Given the description of an element on the screen output the (x, y) to click on. 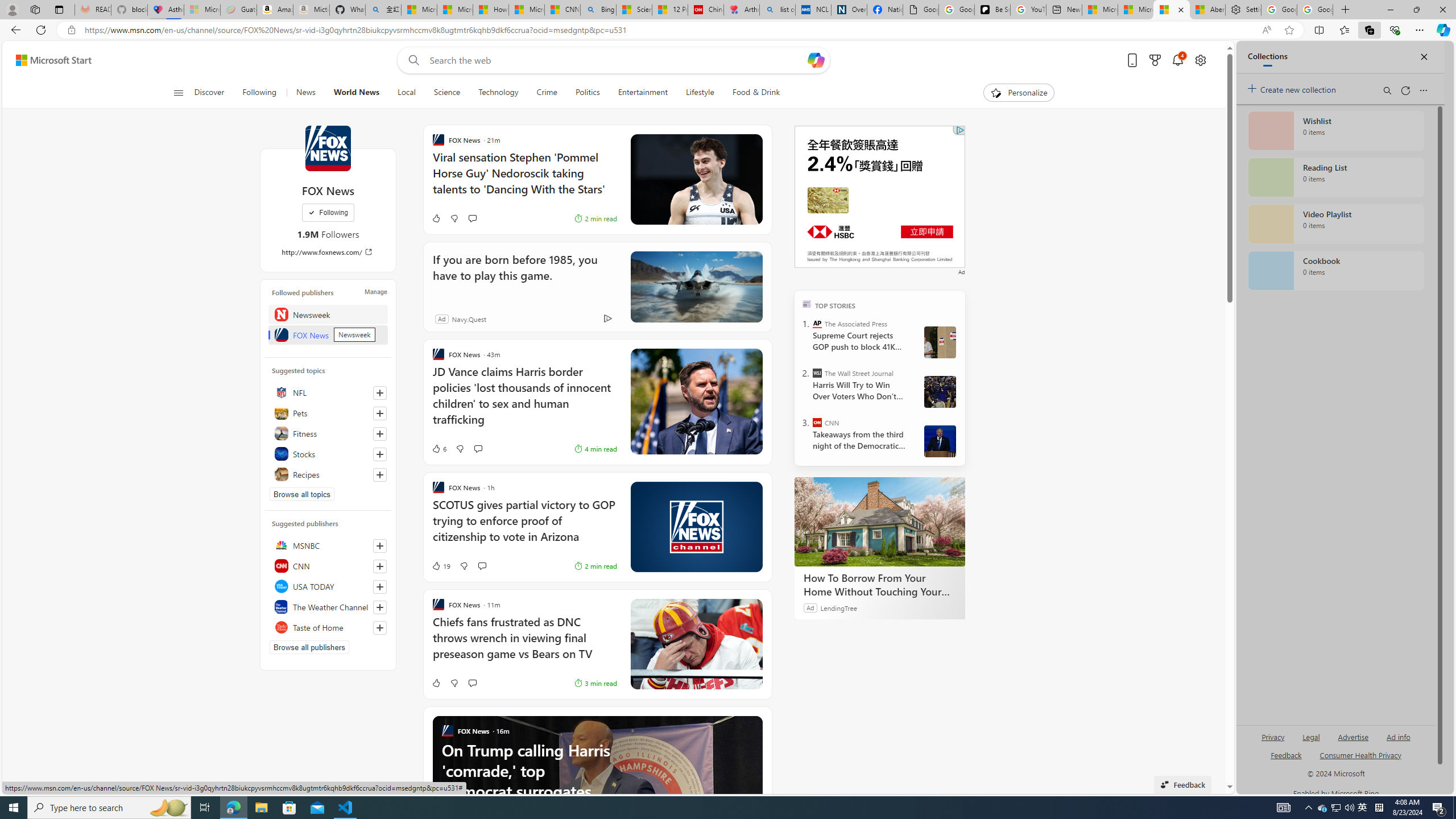
Class: qc-adchoices-icon (959, 130)
TOP (806, 302)
Class: qc-adchoices-link top-right  (959, 129)
Taste of Home (327, 627)
LendingTree (838, 607)
6 Like (438, 448)
CNN - MSN (562, 9)
If you are born before 1985, you have to play this game. (696, 286)
